Given the description of an element on the screen output the (x, y) to click on. 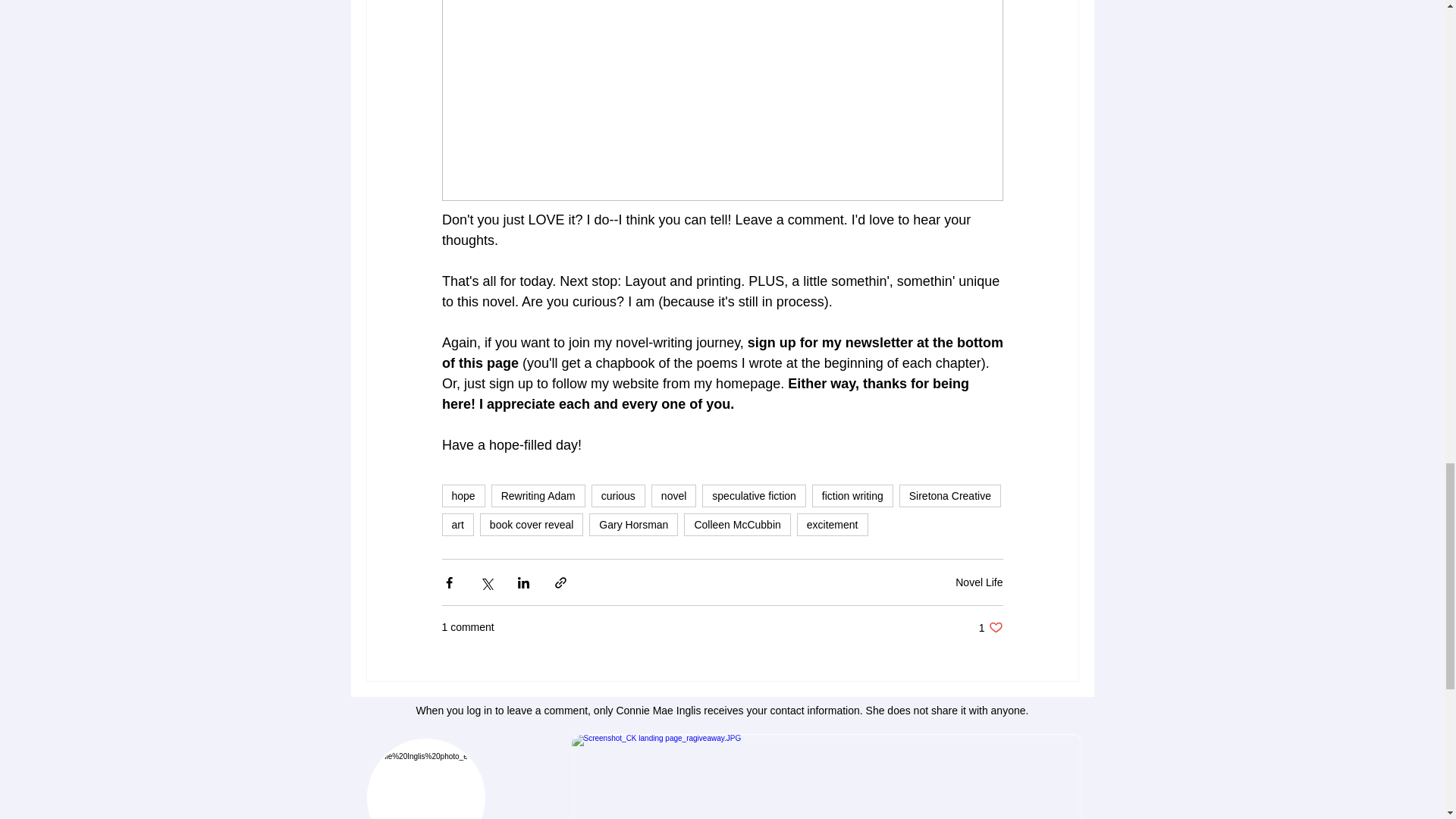
fiction writing (852, 495)
curious (618, 495)
book cover reveal (531, 524)
hope (462, 495)
excitement (831, 524)
Colleen McCubbin (737, 524)
Novel Life (979, 582)
novel (672, 495)
speculative fiction (753, 495)
Gary Horsman (633, 524)
